Given the description of an element on the screen output the (x, y) to click on. 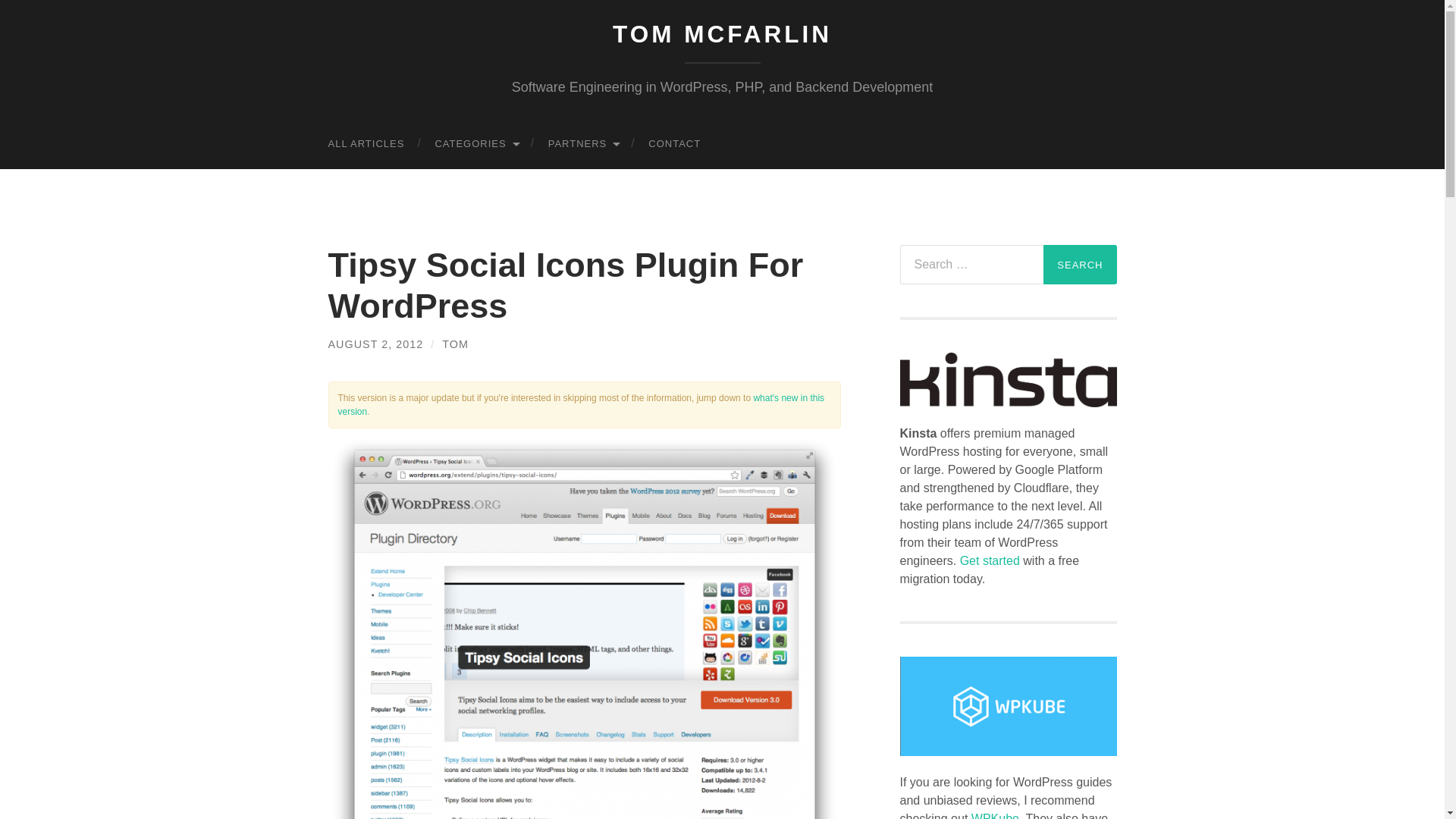
what's new in this version (581, 404)
Search (1079, 264)
ALL ARTICLES (366, 142)
TOM MCFARLIN (721, 33)
CONTACT (674, 142)
PARTNERS (582, 142)
Search (1079, 264)
TOM (455, 344)
CATEGORIES (475, 142)
